Given the description of an element on the screen output the (x, y) to click on. 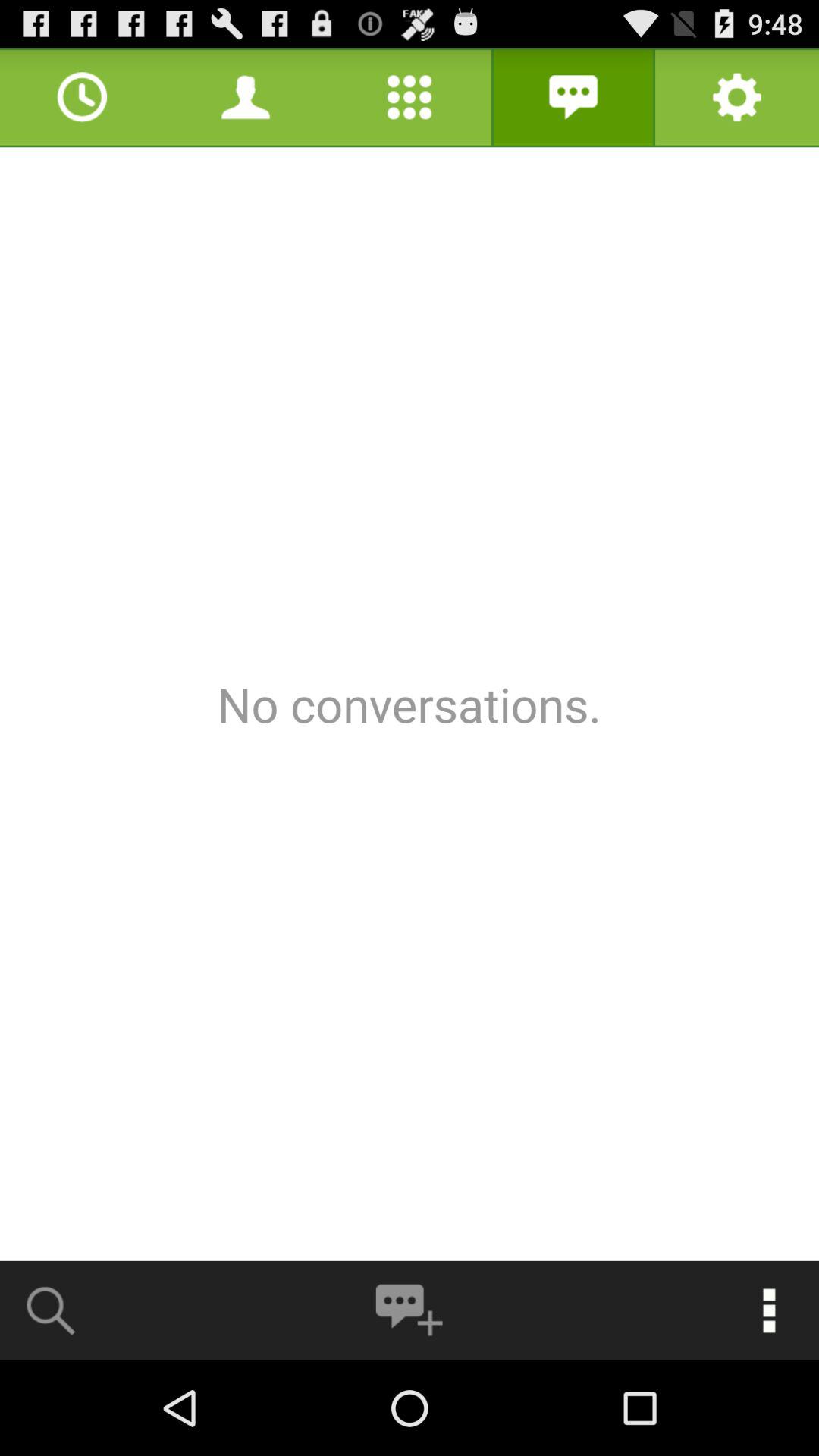
search (51, 1310)
